Given the description of an element on the screen output the (x, y) to click on. 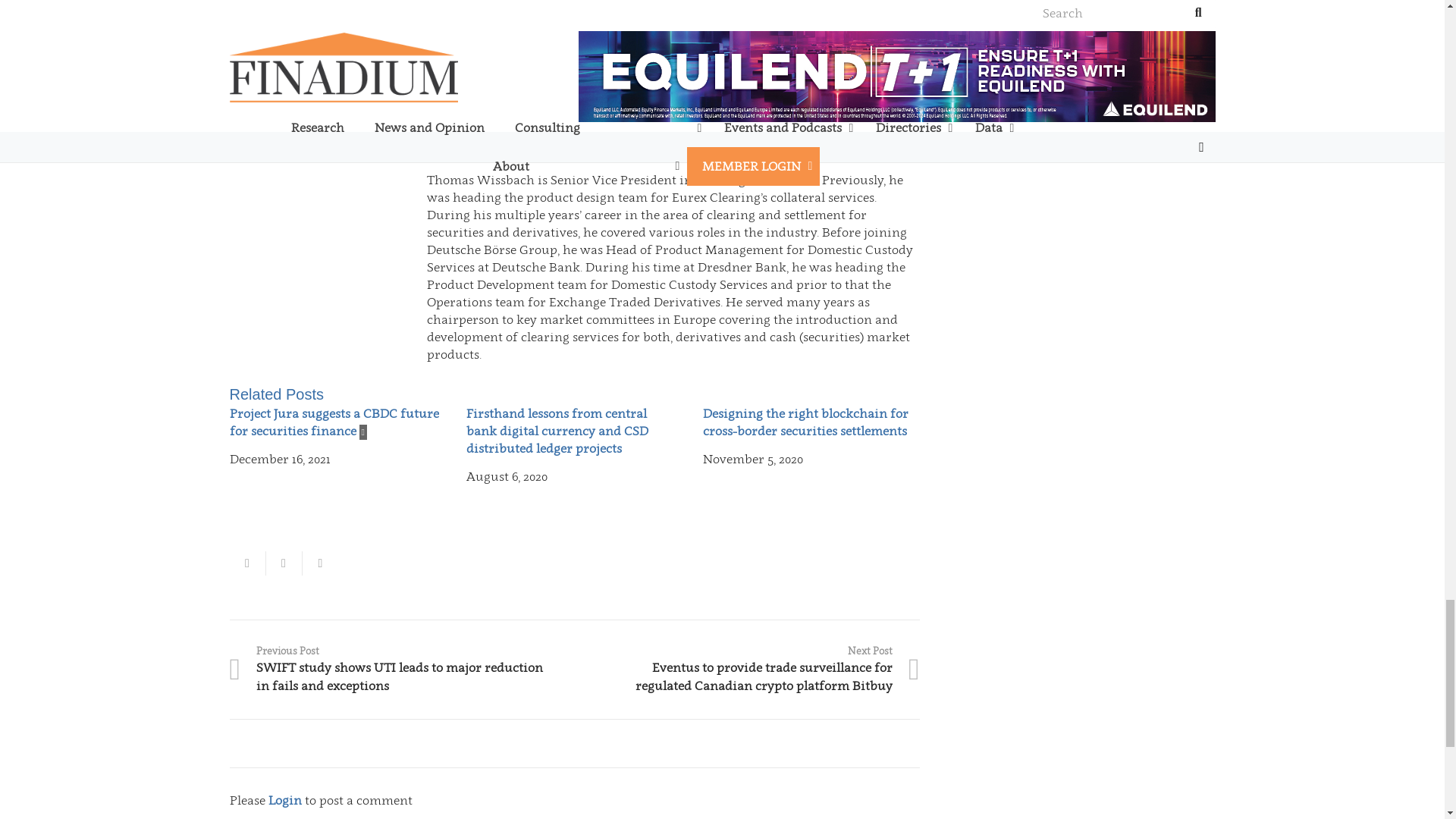
Share this (319, 563)
Share this (282, 563)
Email this (246, 563)
